Given the description of an element on the screen output the (x, y) to click on. 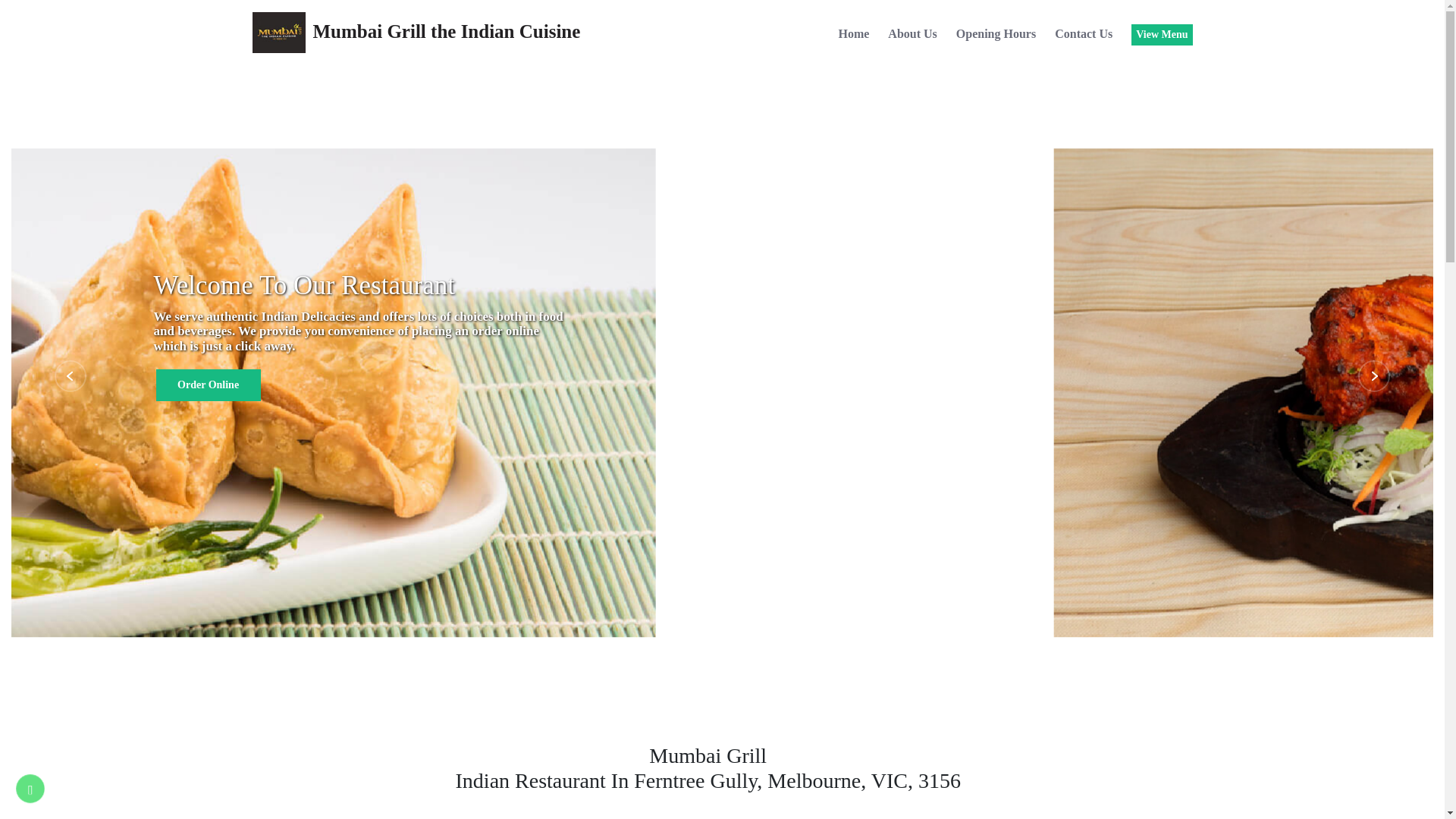
About Us Element type: text (912, 36)
View Menu Element type: text (1161, 34)
Contact Us Element type: text (1083, 36)
Order Online Element type: text (208, 385)
Opening Hours Element type: text (995, 36)
Home Element type: text (853, 36)
